Given the description of an element on the screen output the (x, y) to click on. 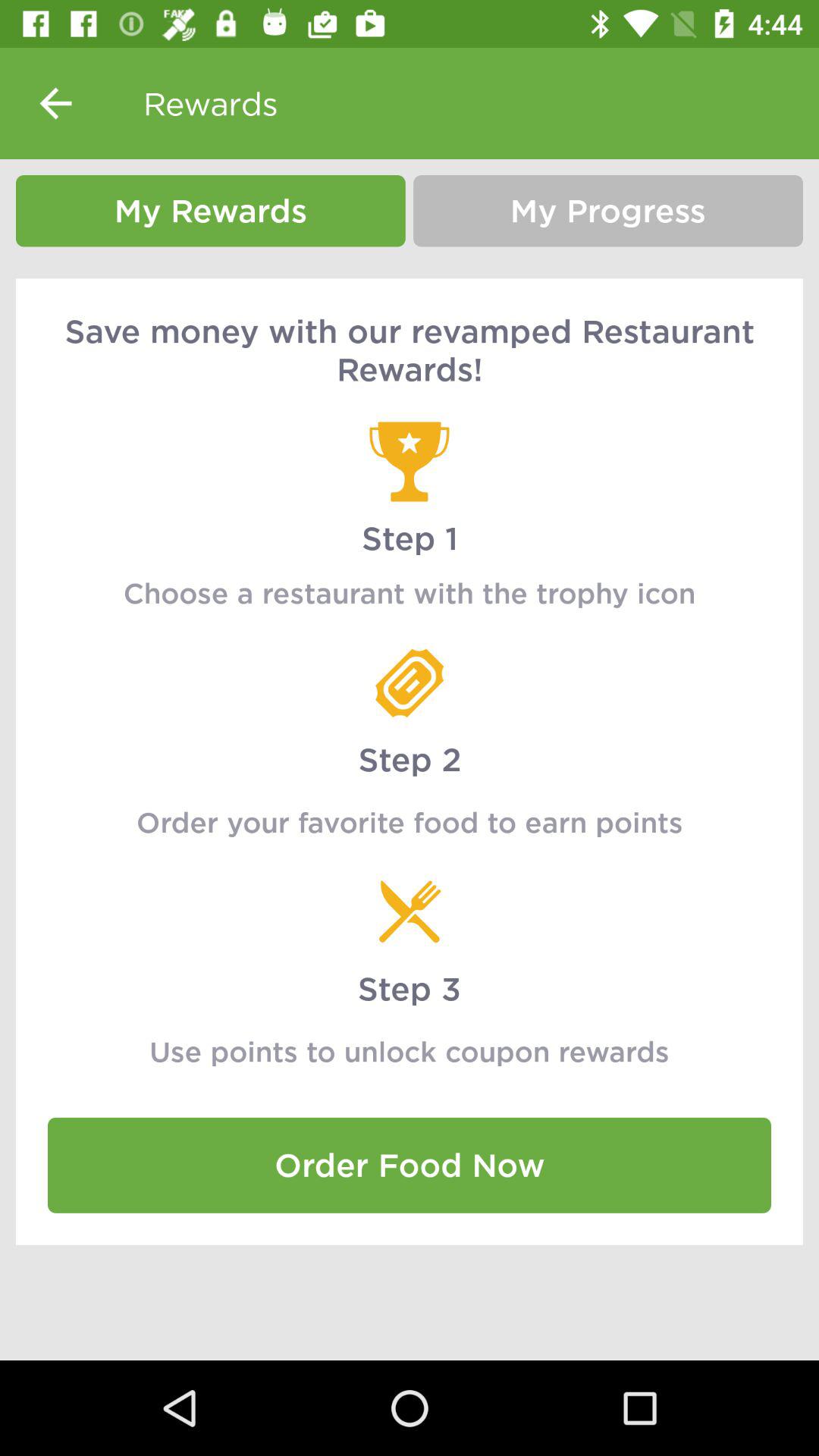
jump to my progress icon (608, 210)
